Given the description of an element on the screen output the (x, y) to click on. 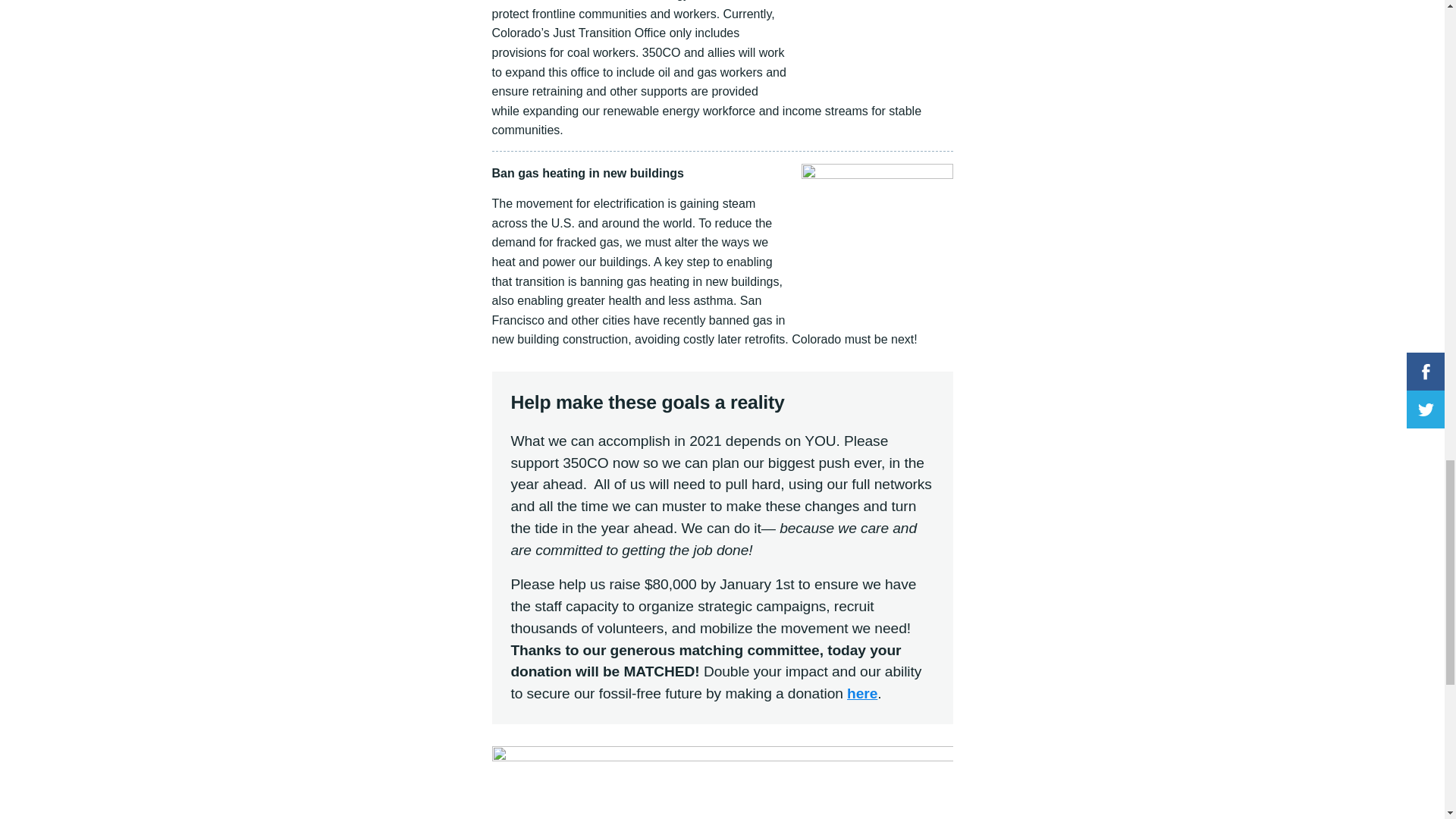
here (862, 693)
